Given the description of an element on the screen output the (x, y) to click on. 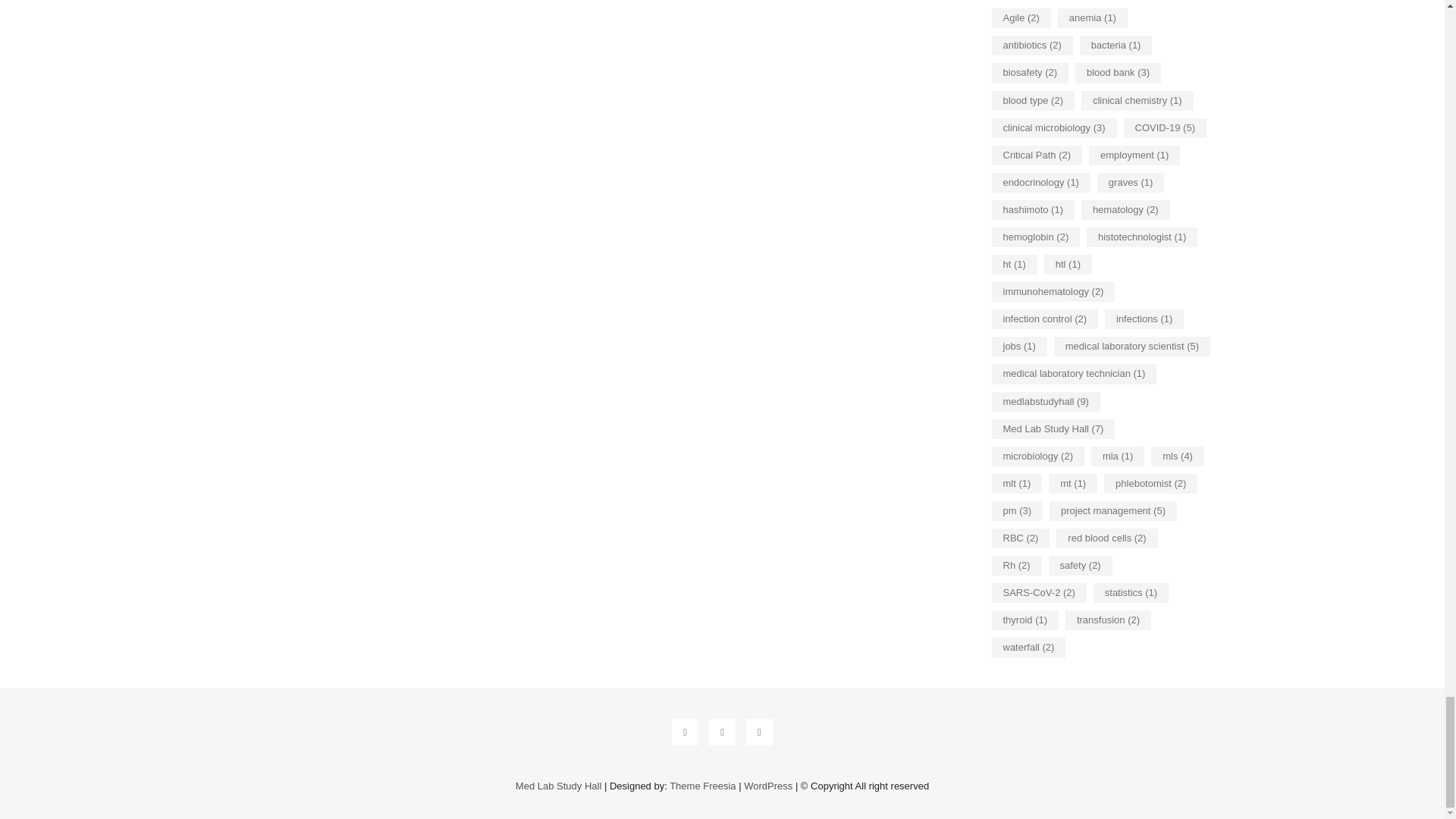
Theme Freesia (702, 785)
Med Lab Study Hall (558, 785)
WordPress (768, 785)
